Given the description of an element on the screen output the (x, y) to click on. 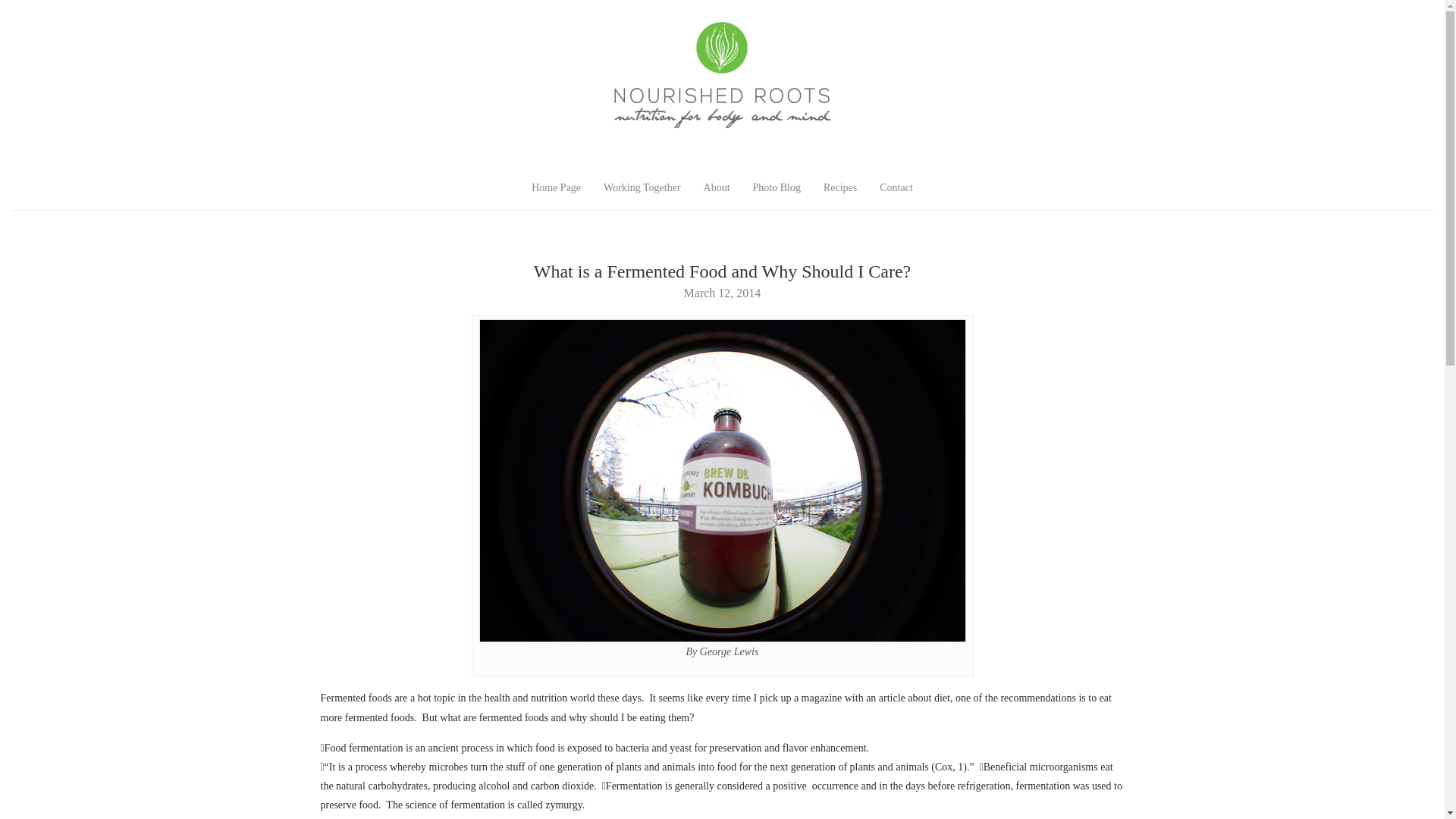
Contact (895, 187)
Photo Blog (776, 187)
Working Together (641, 187)
2014-03-12T22:24:05-07:00 (722, 292)
Home Page (555, 187)
Recipes (839, 187)
About (717, 187)
